Given the description of an element on the screen output the (x, y) to click on. 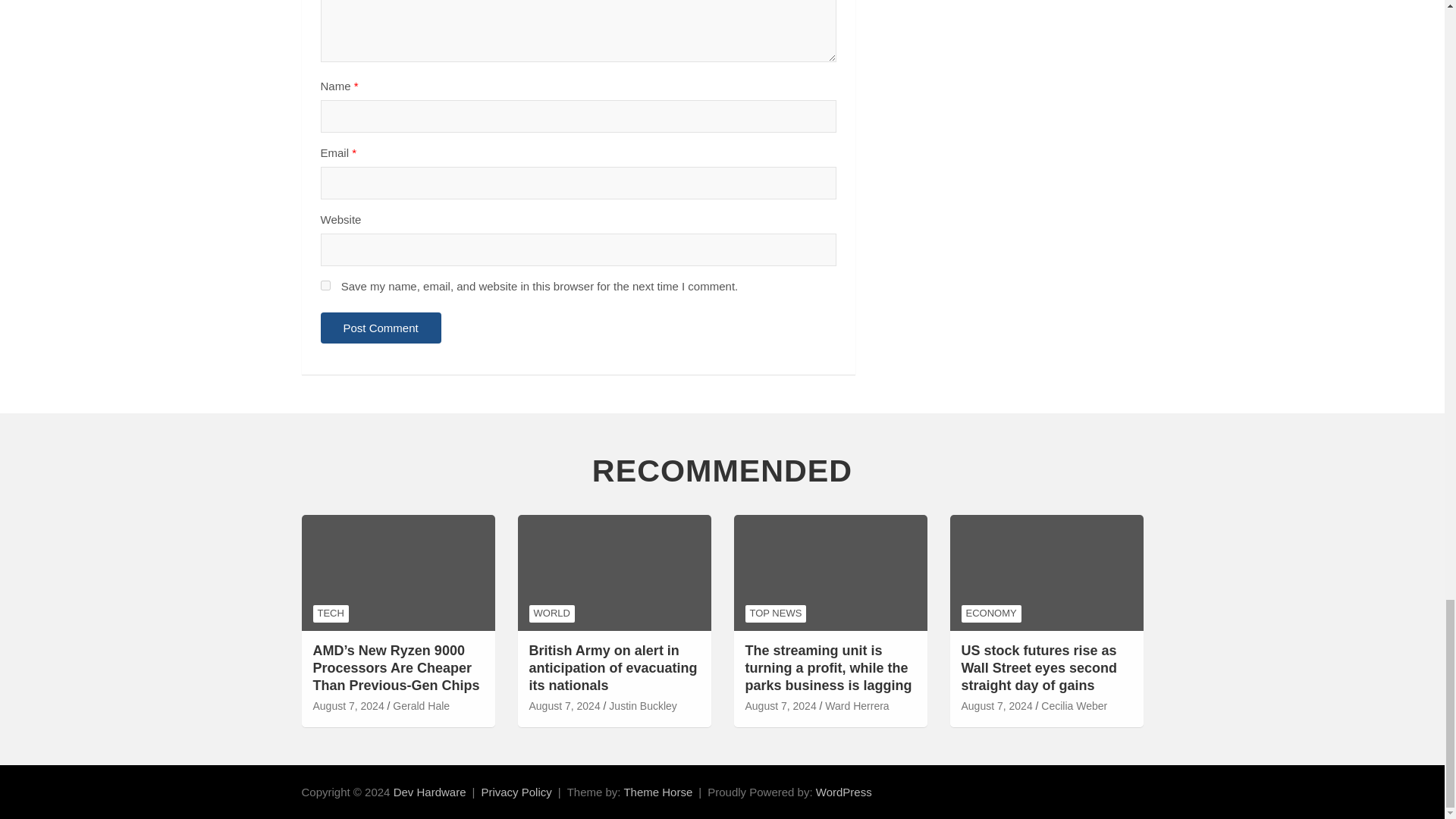
TECH (330, 613)
Post Comment (380, 327)
yes (325, 285)
Post Comment (380, 327)
Theme Horse (658, 791)
WordPress (843, 791)
Dev Hardware (429, 791)
